Given the description of an element on the screen output the (x, y) to click on. 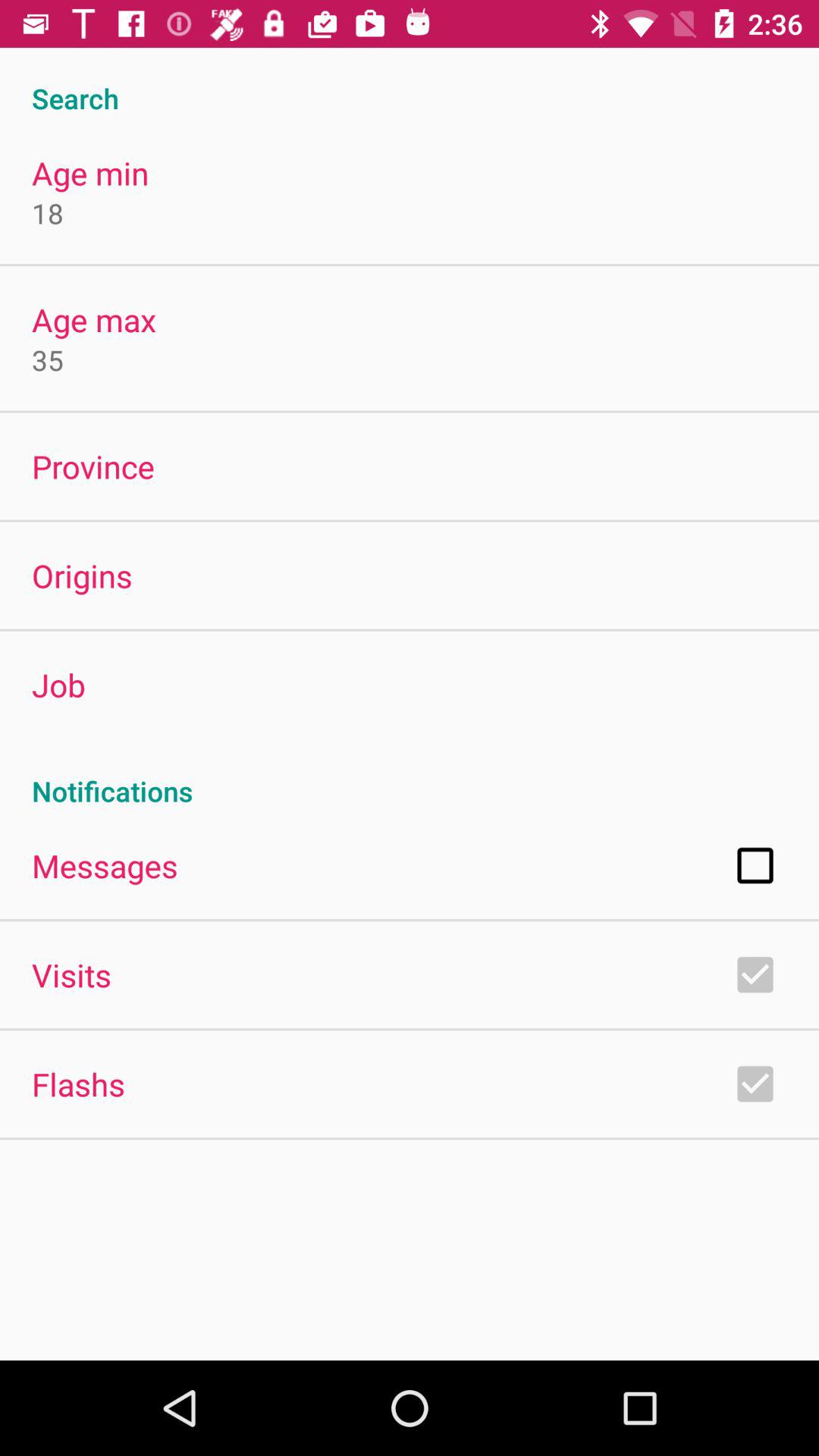
press item below the visits item (78, 1083)
